Given the description of an element on the screen output the (x, y) to click on. 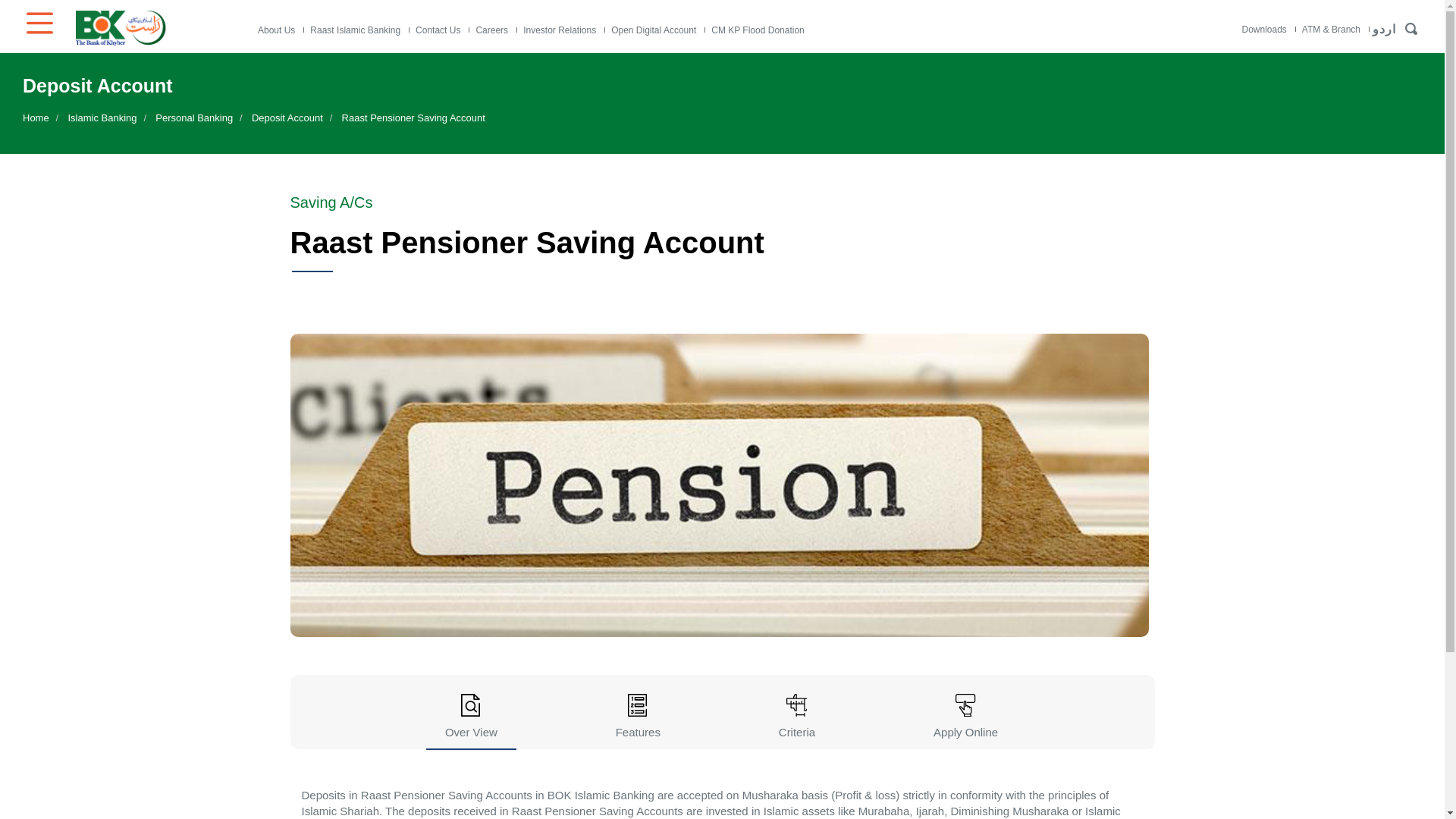
Home (159, 27)
